Given the description of an element on the screen output the (x, y) to click on. 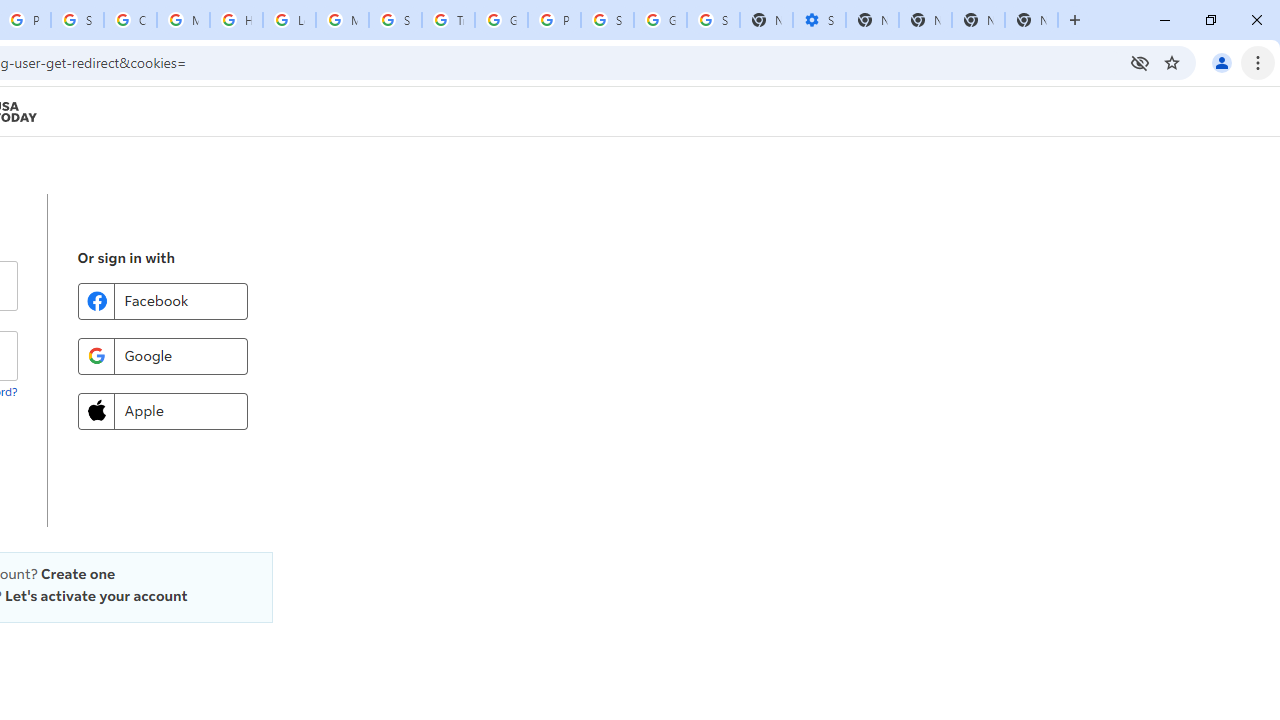
Search our Doodle Library Collection - Google Doodles (395, 20)
Apple (162, 410)
Settings - Performance (819, 20)
New Tab (1031, 20)
Sign in - Google Accounts (607, 20)
Google Ads - Sign in (501, 20)
